Given the description of an element on the screen output the (x, y) to click on. 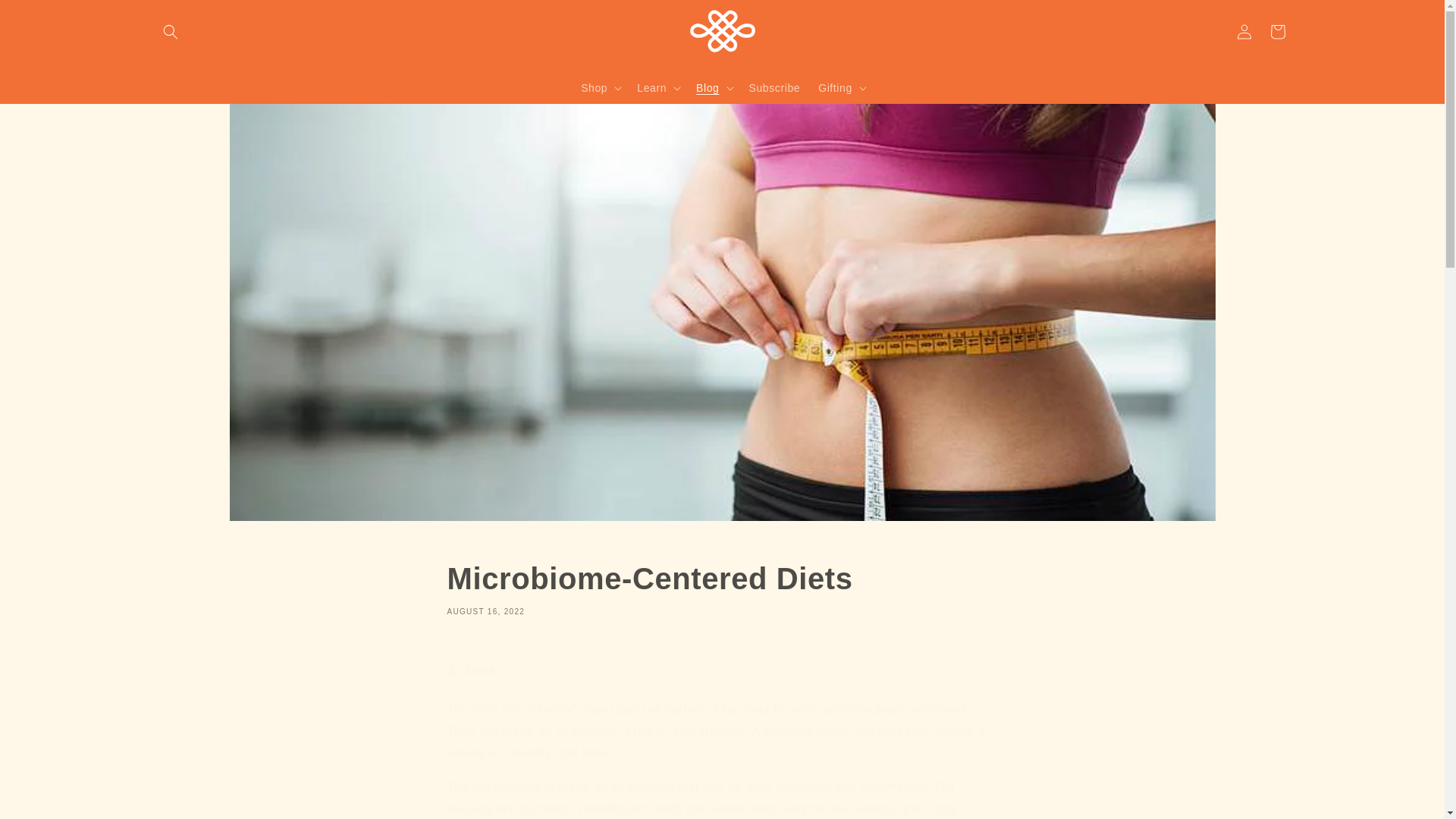
Subscribe (774, 87)
Skip to content (45, 17)
Share (721, 670)
